Given the description of an element on the screen output the (x, y) to click on. 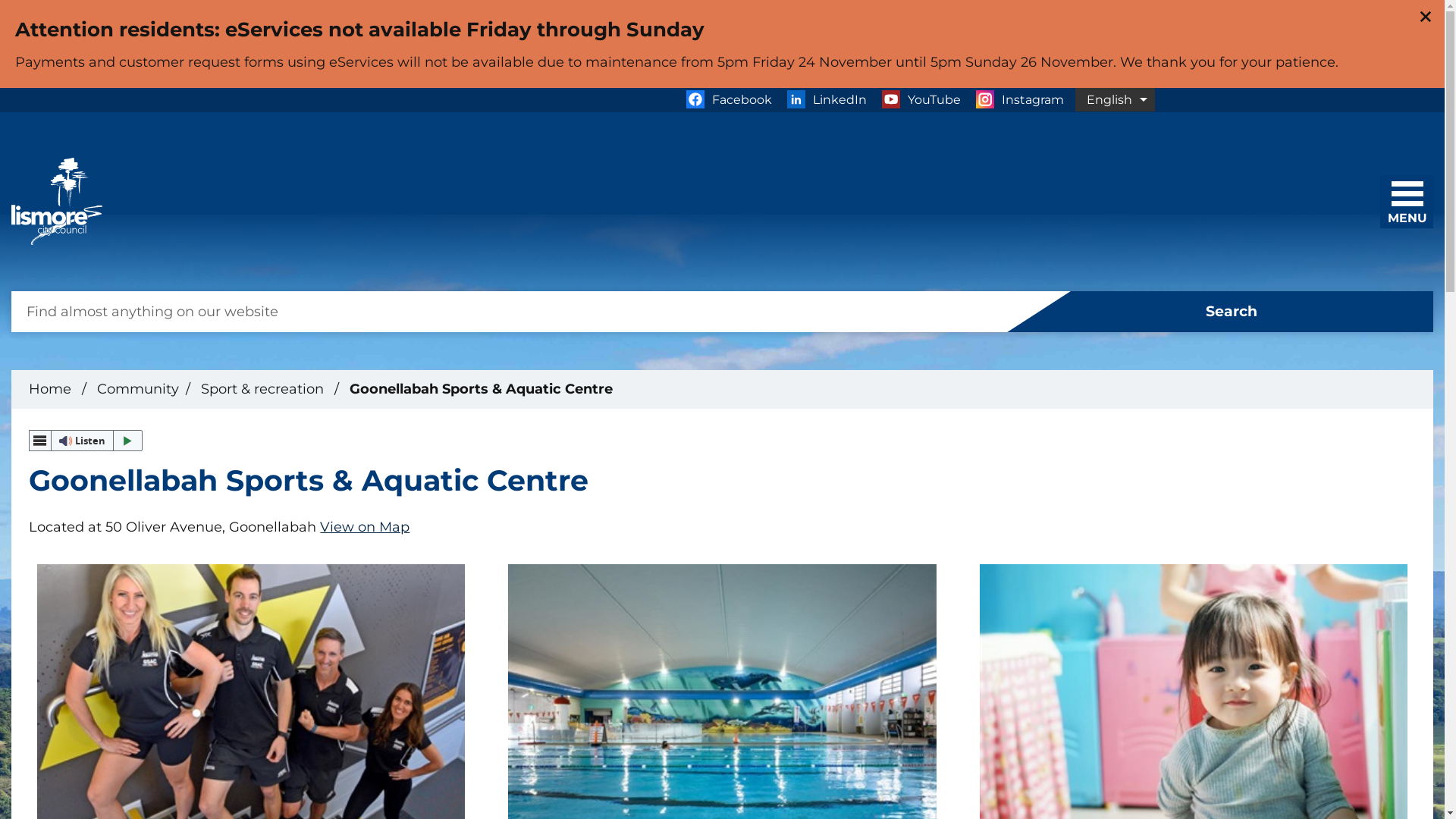
View on Map Element type: text (364, 526)
Home Element type: text (49, 388)
Listen Element type: text (85, 440)
Home - Lismore City Council - Logo Element type: text (56, 201)
MENU Element type: text (1410, 196)
Community Element type: text (137, 388)
Instagram Element type: text (1019, 99)
Sport & recreation Element type: text (263, 388)
LinkedIn Element type: text (826, 99)
Facebook Element type: text (728, 99)
YouTube Element type: text (920, 99)
Close this announcement Element type: text (1425, 16)
Your current preferred language is
English Element type: text (1114, 99)
webReader menu Element type: hover (39, 440)
Search Element type: text (1220, 311)
